Given the description of an element on the screen output the (x, y) to click on. 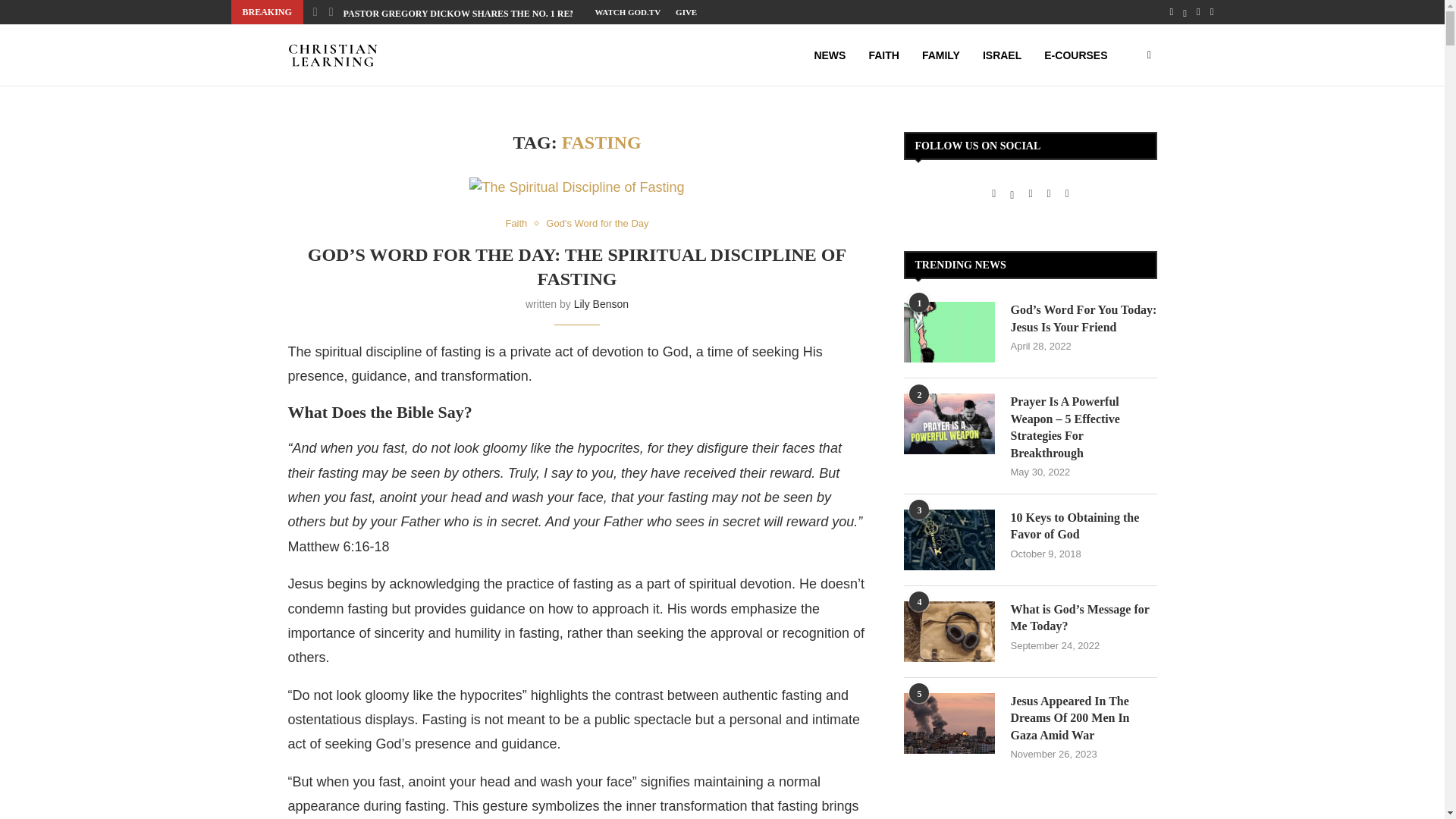
Lily Benson (600, 304)
E-COURSES (1074, 55)
naassom-azevedo-NWu79O4kekw-unsplash (576, 187)
God's Word for the Day (596, 223)
Faith (519, 223)
WATCH GOD.TV (627, 12)
